Given the description of an element on the screen output the (x, y) to click on. 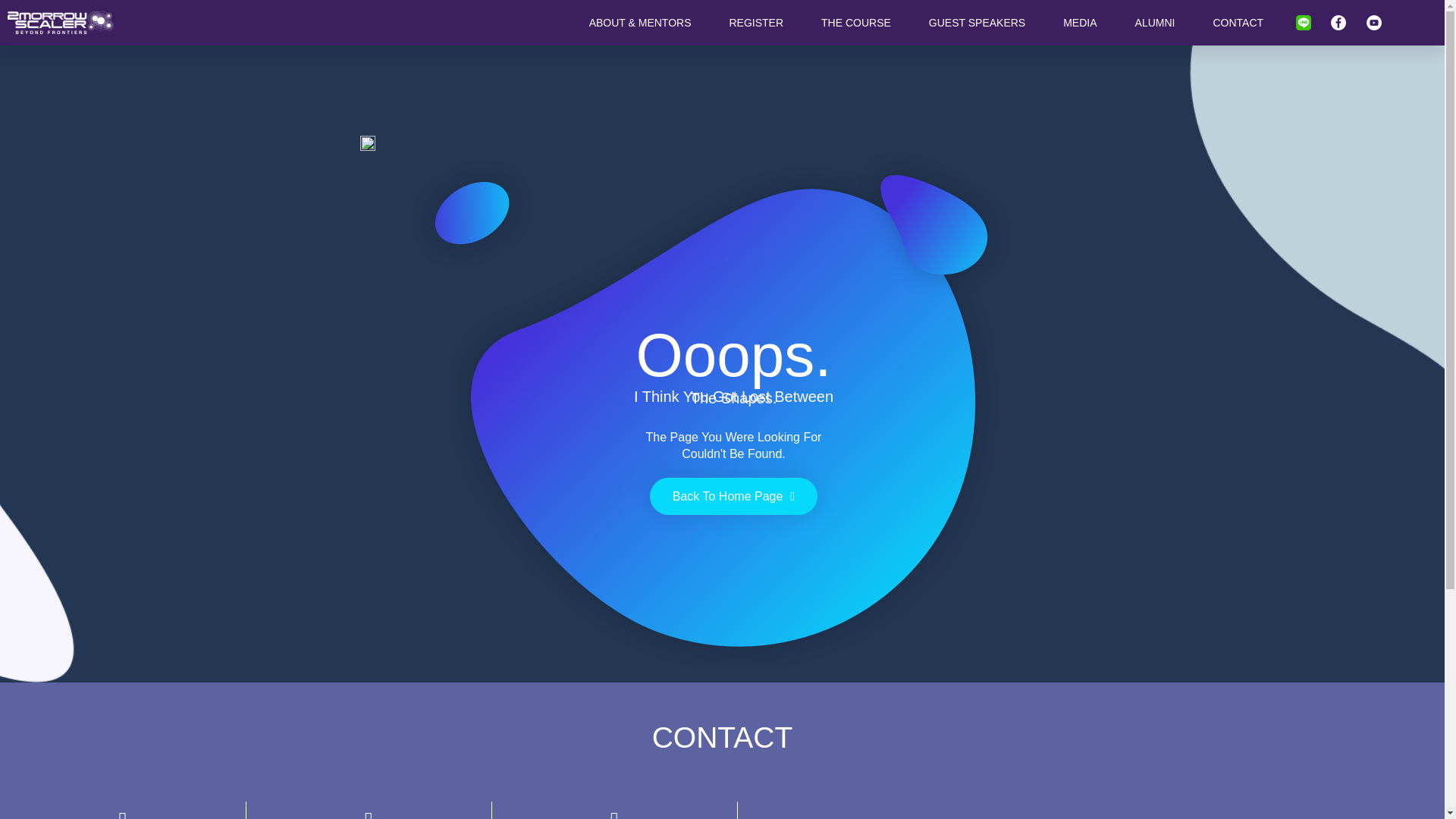
Modern Town (1091, 814)
Logo Main (60, 23)
ALUMNI (1154, 22)
Youtube (1374, 22)
THE COURSE (856, 22)
REGISTER (756, 22)
facebook (1337, 22)
GUEST SPEAKERS (976, 22)
CONTACT (1237, 22)
Back To Home Page (732, 496)
MEDIA (1079, 22)
